Given the description of an element on the screen output the (x, y) to click on. 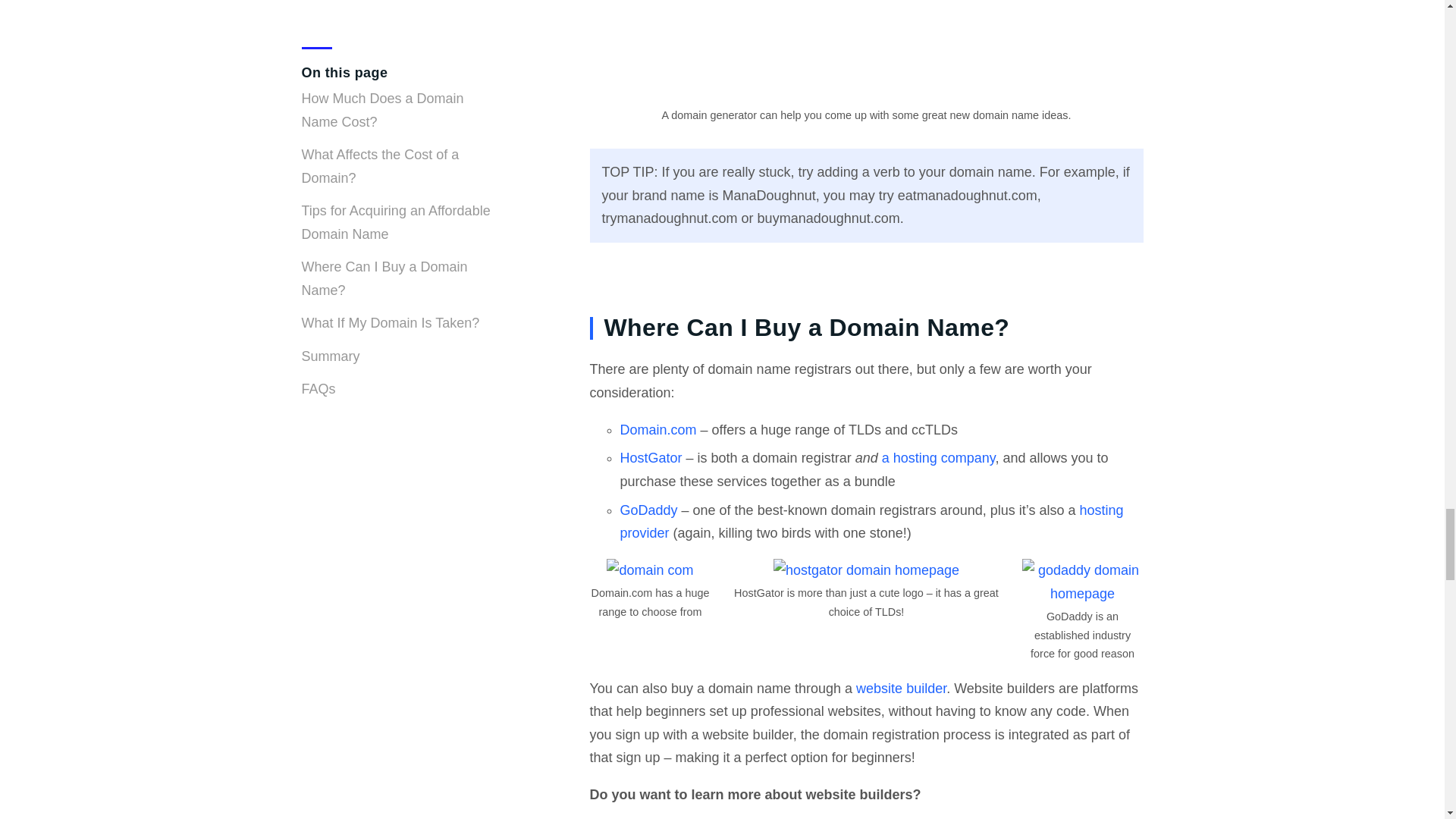
domain com homepage (650, 570)
godaddy domain (1082, 581)
hostgator domain (866, 570)
Screenshot 2023-07-12 at 22.55.35 (865, 52)
